Given the description of an element on the screen output the (x, y) to click on. 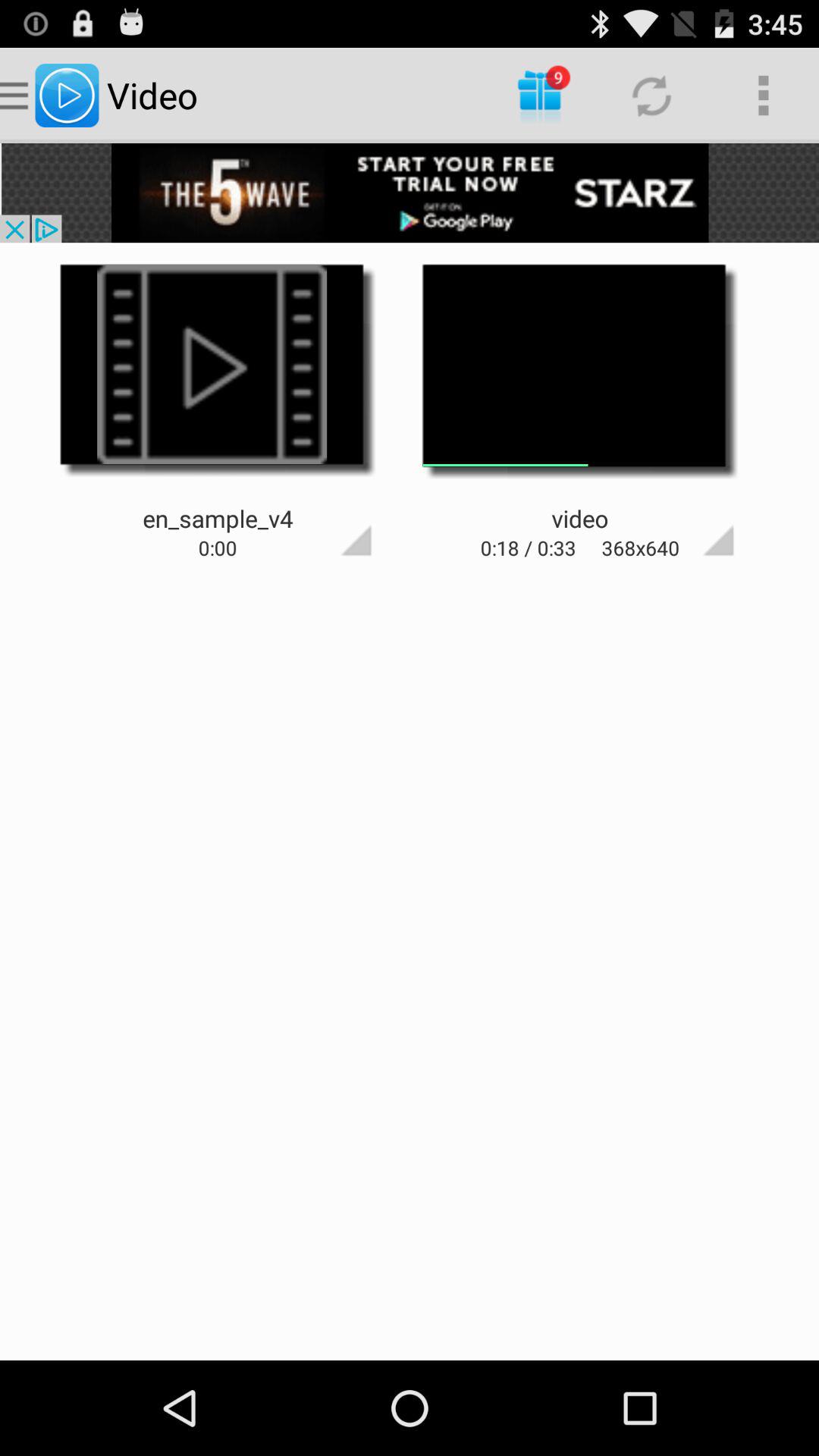
go to the 5 wave (409, 192)
